Given the description of an element on the screen output the (x, y) to click on. 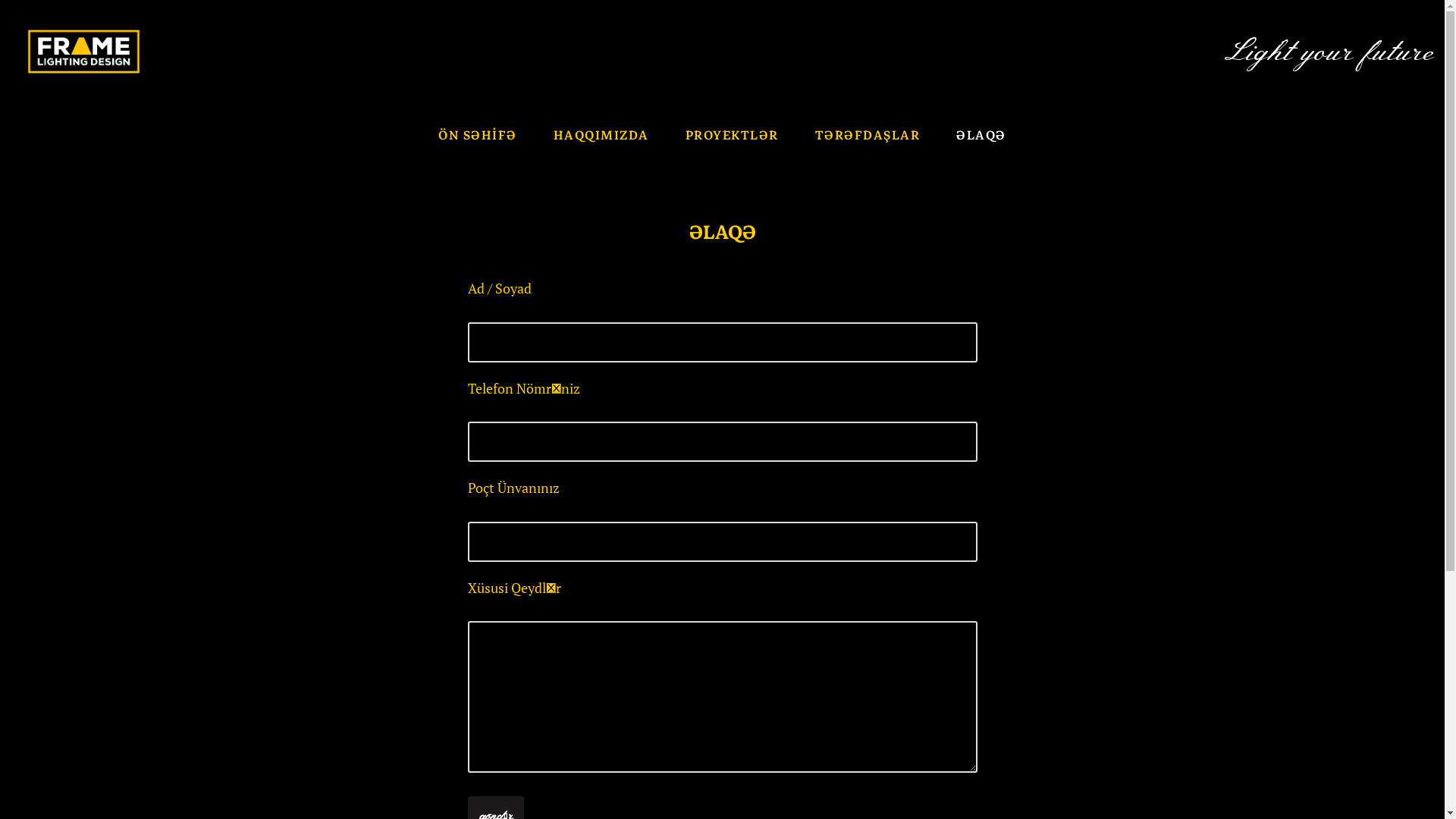
HAQQIMIZDA Element type: text (601, 134)
Frame Lighting Design - Light Your Future Element type: hover (83, 51)
